Given the description of an element on the screen output the (x, y) to click on. 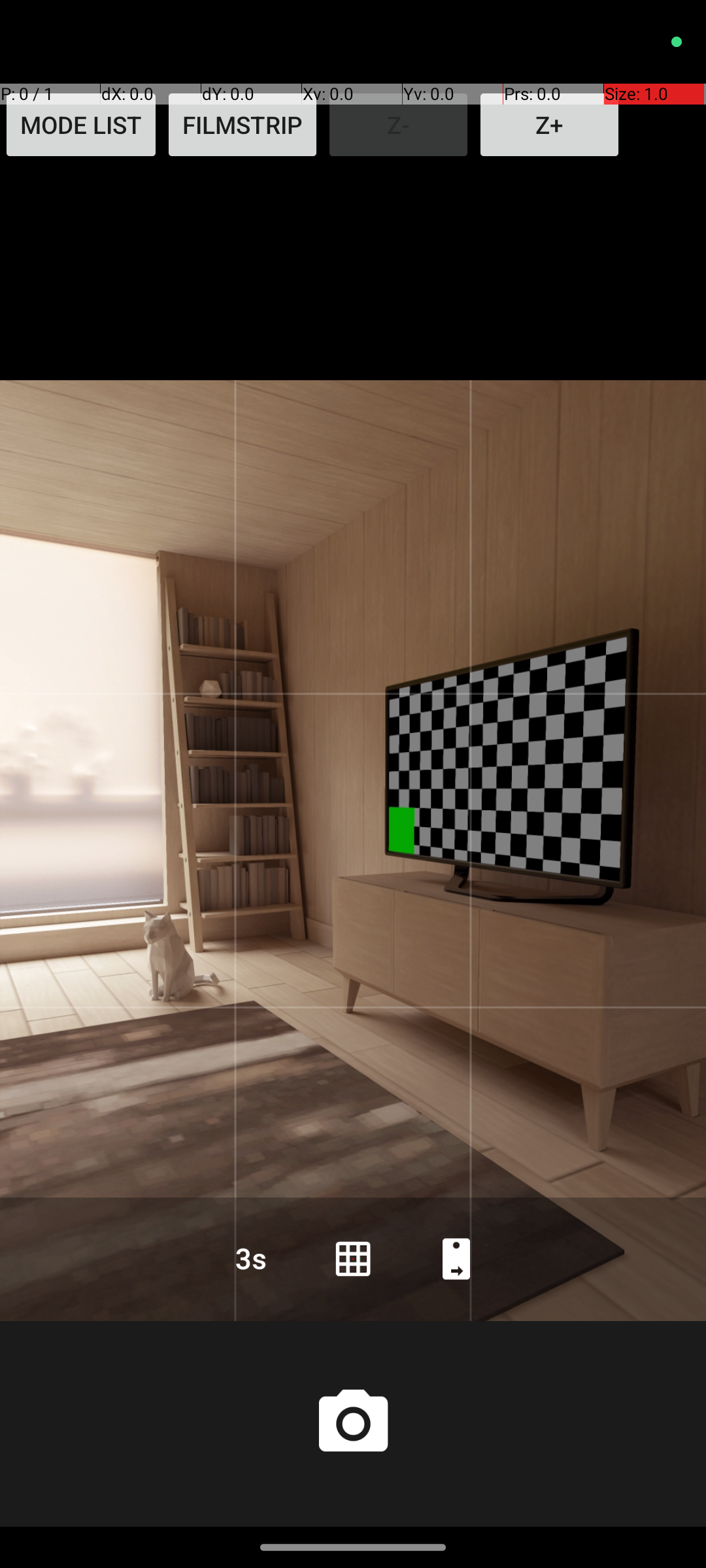
Shutter Element type: android.widget.ImageView (353, 1423)
MODE LIST Element type: android.widget.Button (81, 124)
FILMSTRIP Element type: android.widget.Button (242, 124)
Z- Element type: android.widget.Button (397, 124)
Z+ Element type: android.widget.Button (548, 124)
Countdown timer duration is set to 3 seconds Element type: android.widget.ImageButton (249, 1258)
Grid lines on Element type: android.widget.ImageButton (352, 1258)
Back camera Element type: android.widget.ImageButton (456, 1258)
